Given the description of an element on the screen output the (x, y) to click on. 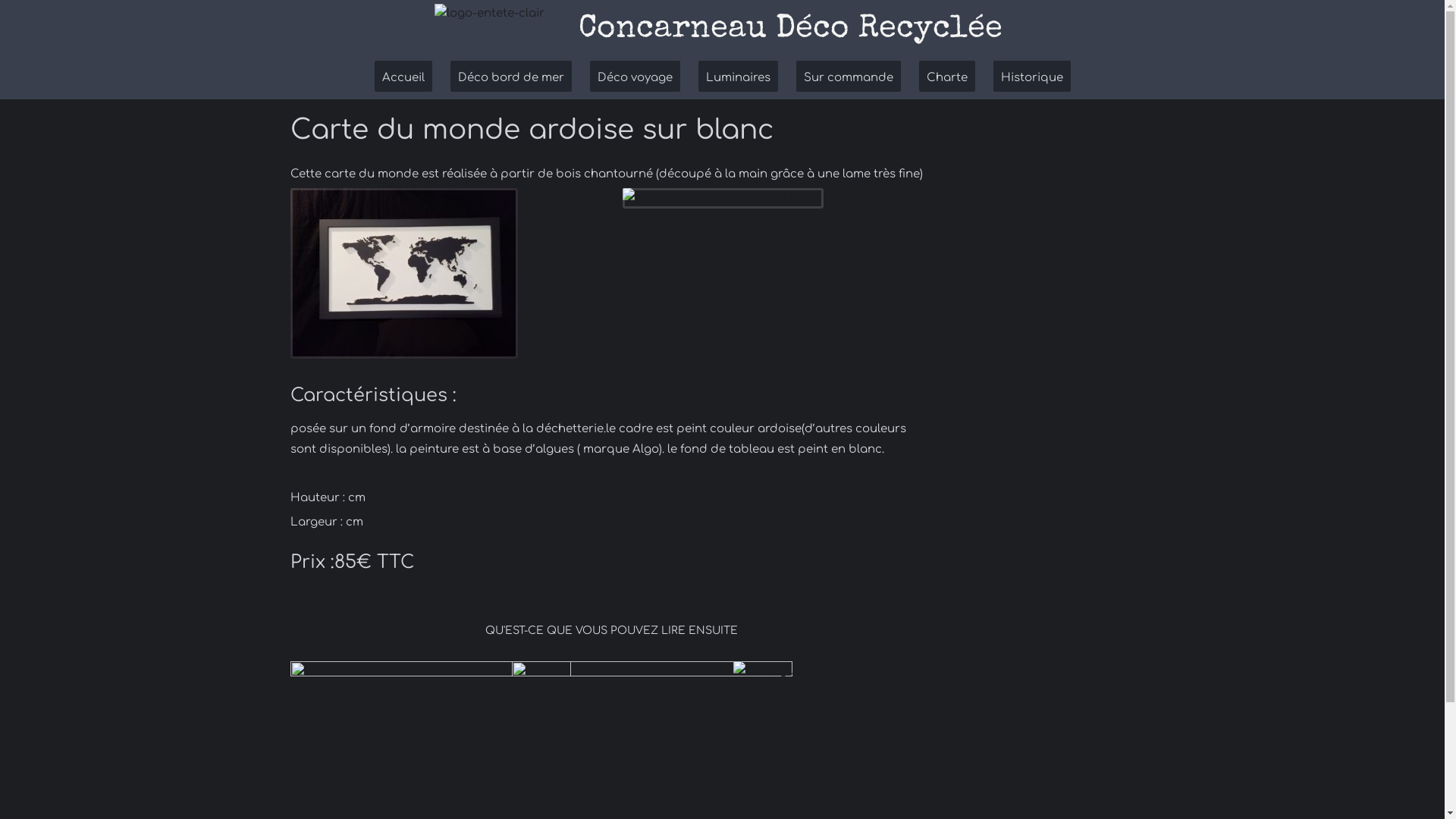
Accueil Element type: text (403, 77)
Sur commande Element type: text (848, 77)
Charte Element type: text (946, 77)
20200106_203549[1] Element type: hover (791, 670)
CARTE DE LA GUADELOUPE Element type: text (798, 695)
Accueil Element type: hover (505, 29)
Luminaires Element type: text (737, 77)
Historique Element type: text (1032, 77)
